Given the description of an element on the screen output the (x, y) to click on. 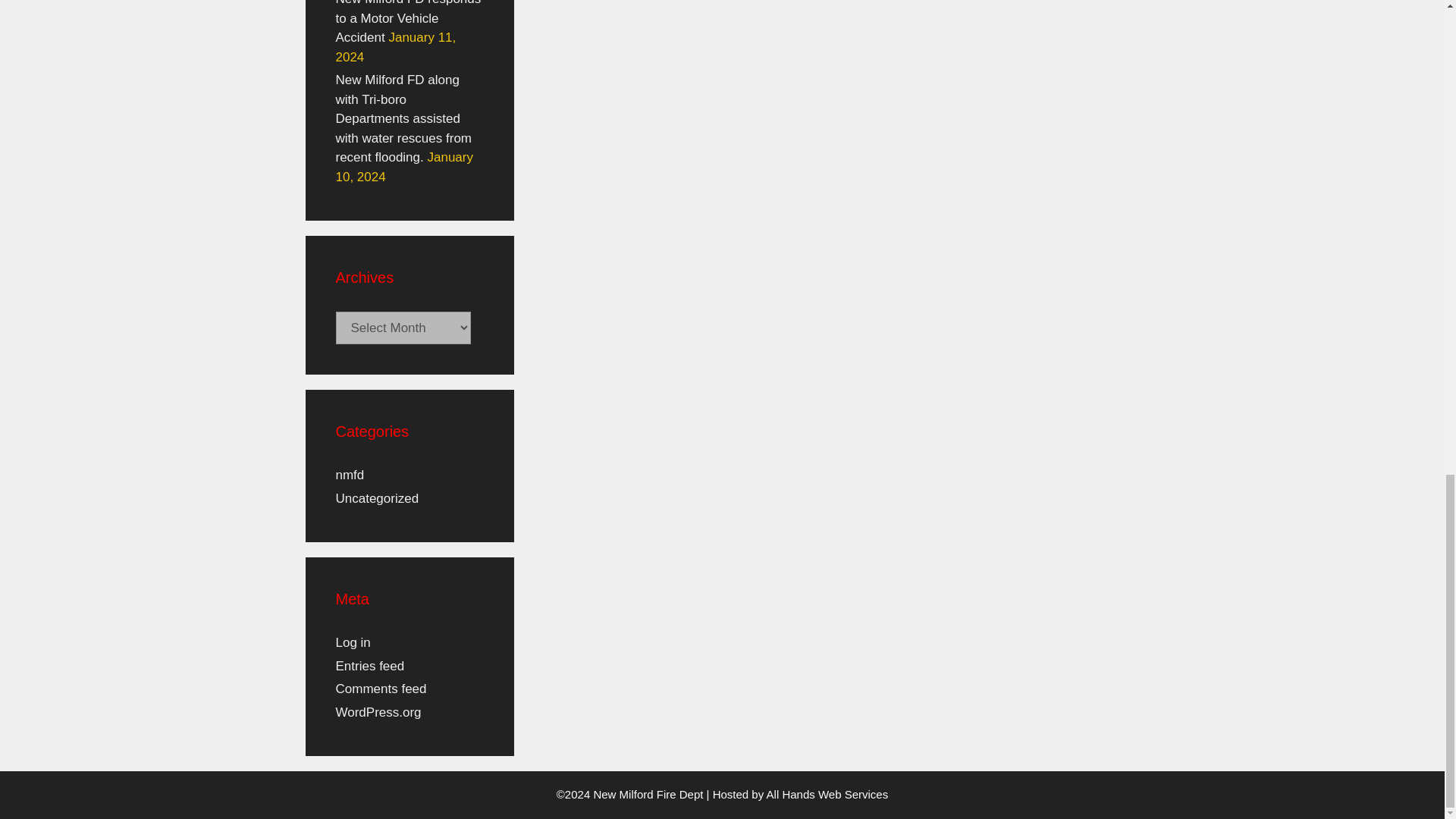
Comments feed (380, 688)
WordPress.org (377, 712)
Entries feed (369, 666)
All Hands Web Services (827, 793)
New Milford FD responds to a Motor Vehicle Accident (407, 22)
Uncategorized (376, 498)
Log in (351, 642)
nmfd (349, 474)
